Given the description of an element on the screen output the (x, y) to click on. 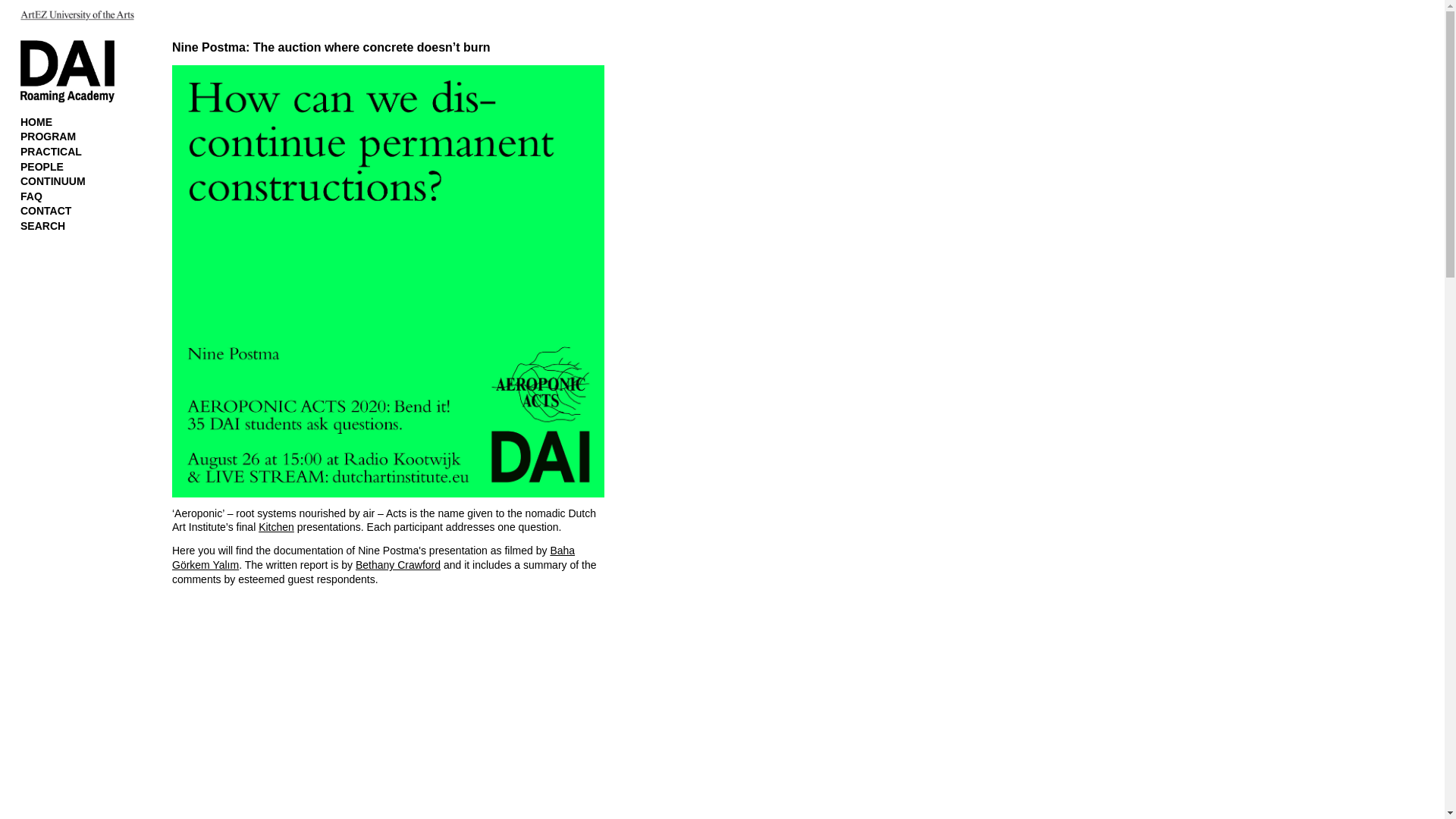
HOME (36, 121)
CONTACT (45, 210)
FAQ (31, 196)
Kitchen (276, 526)
SEARCH (42, 225)
